Given the description of an element on the screen output the (x, y) to click on. 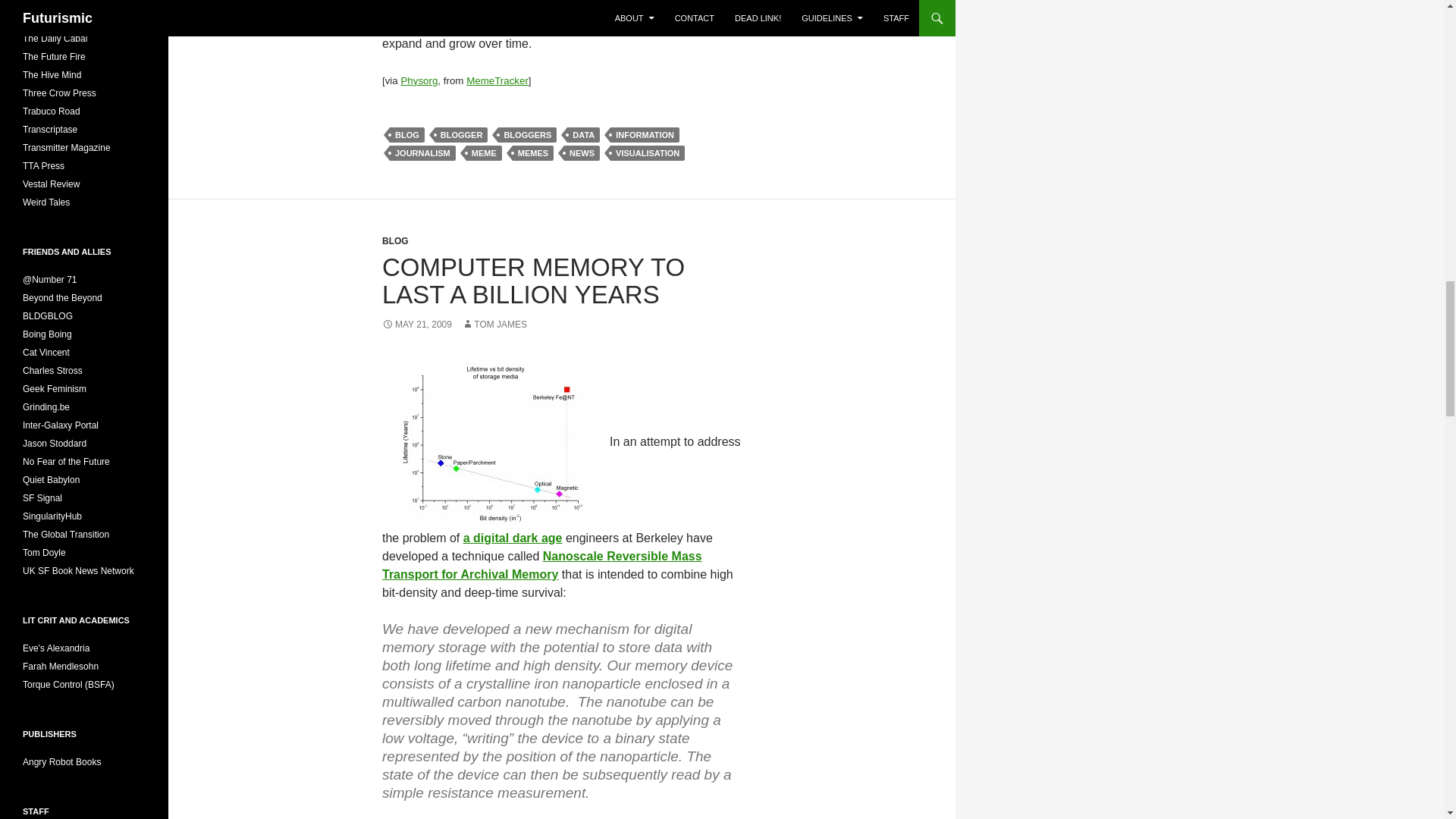
DATA (583, 134)
BLOG (407, 134)
JOURNALISM (422, 152)
BLOGGER (461, 134)
MemeTracker (496, 80)
BLOGGERS (526, 134)
lifevsbit (495, 442)
INFORMATION (644, 134)
Physorg (419, 80)
